Given the description of an element on the screen output the (x, y) to click on. 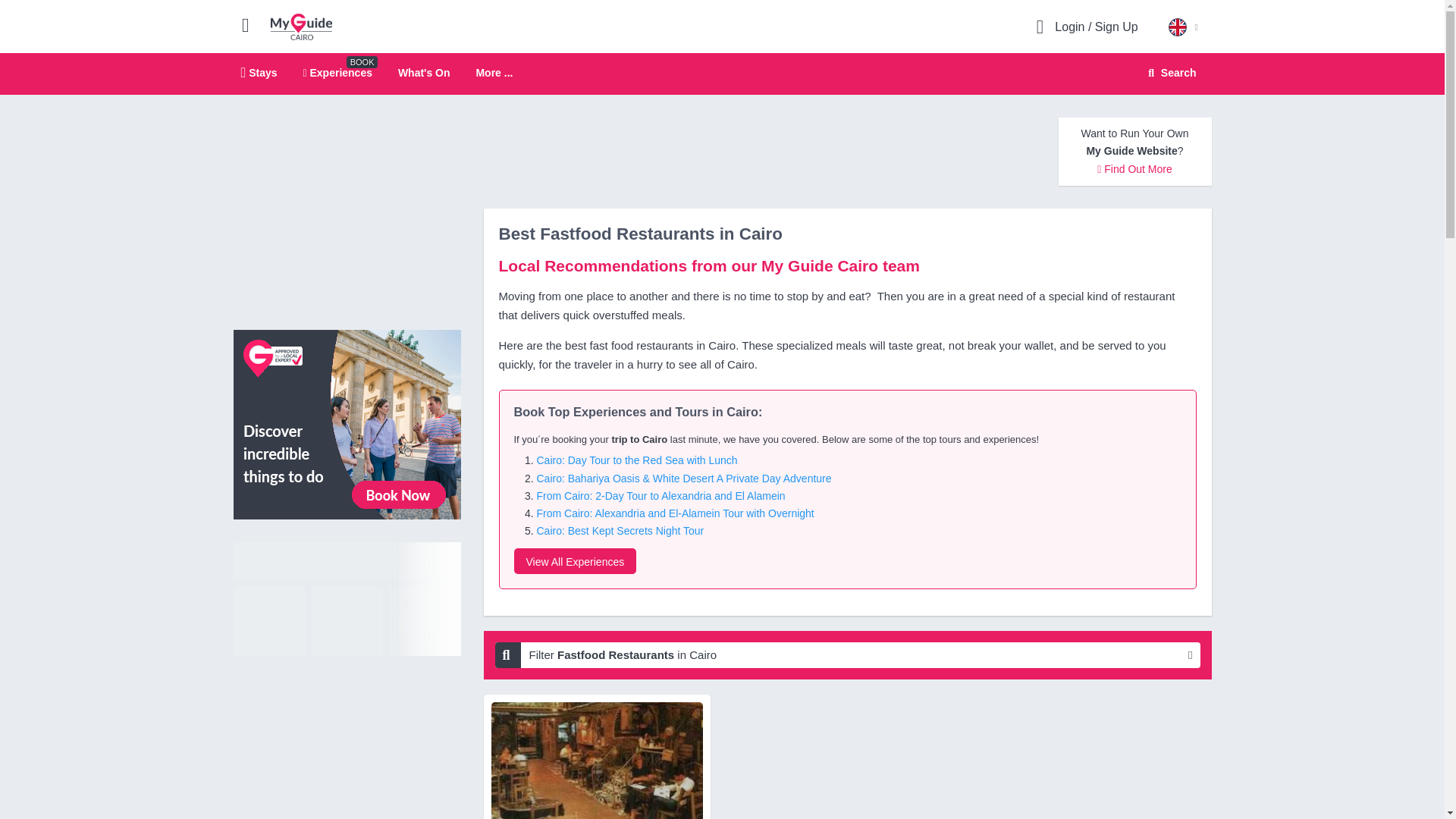
Experiences (721, 74)
View All Experiences (337, 72)
GetYourGuide Widget (346, 423)
More ... (346, 599)
What's On (494, 72)
View All Experiences (423, 72)
Search (575, 560)
My Guide Cairo (1169, 72)
Stays (300, 25)
Toggle Menu (259, 72)
